Given the description of an element on the screen output the (x, y) to click on. 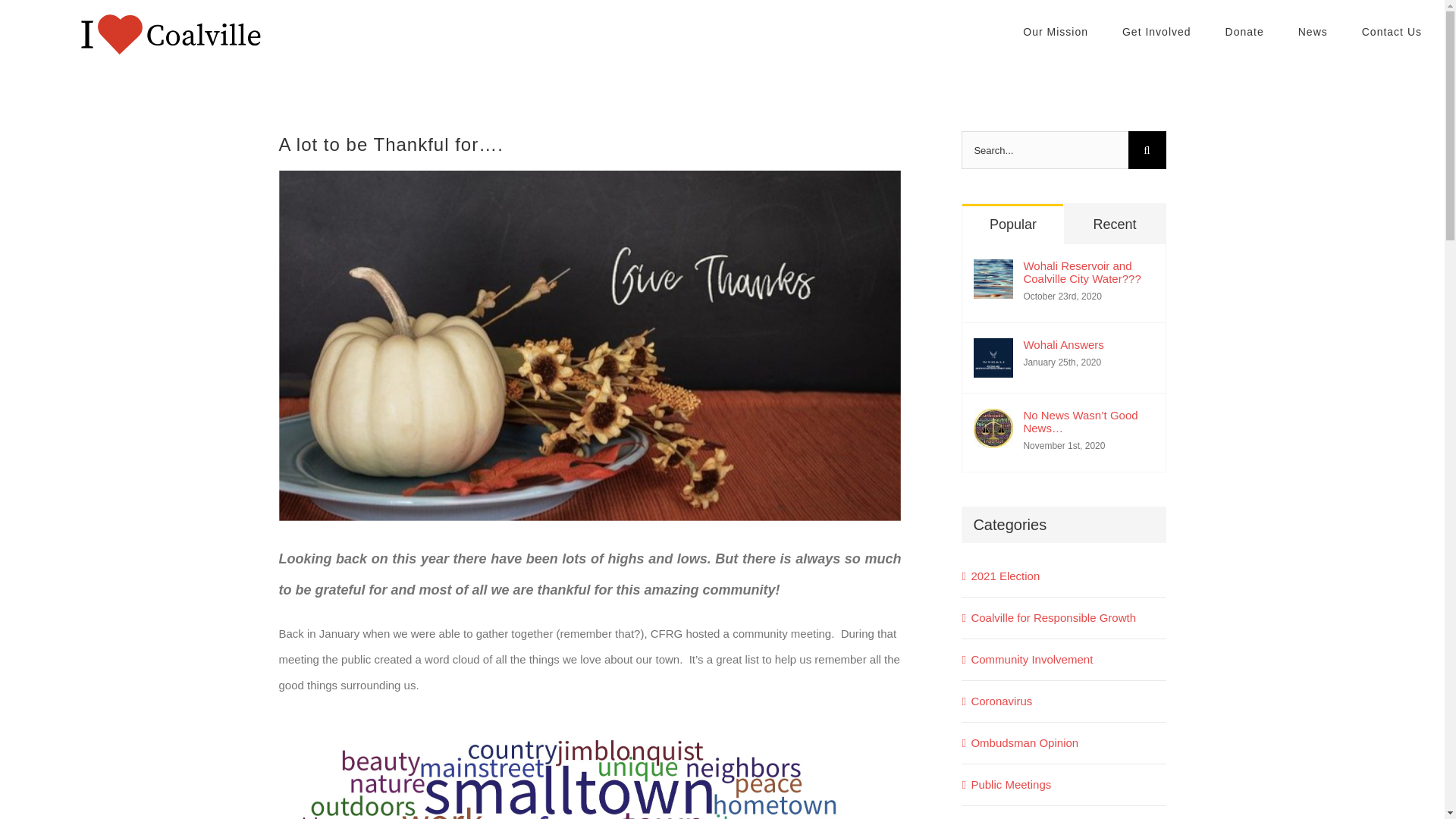
Contact Us (1391, 31)
Our Mission (1055, 31)
Get Involved (1156, 31)
